Given the description of an element on the screen output the (x, y) to click on. 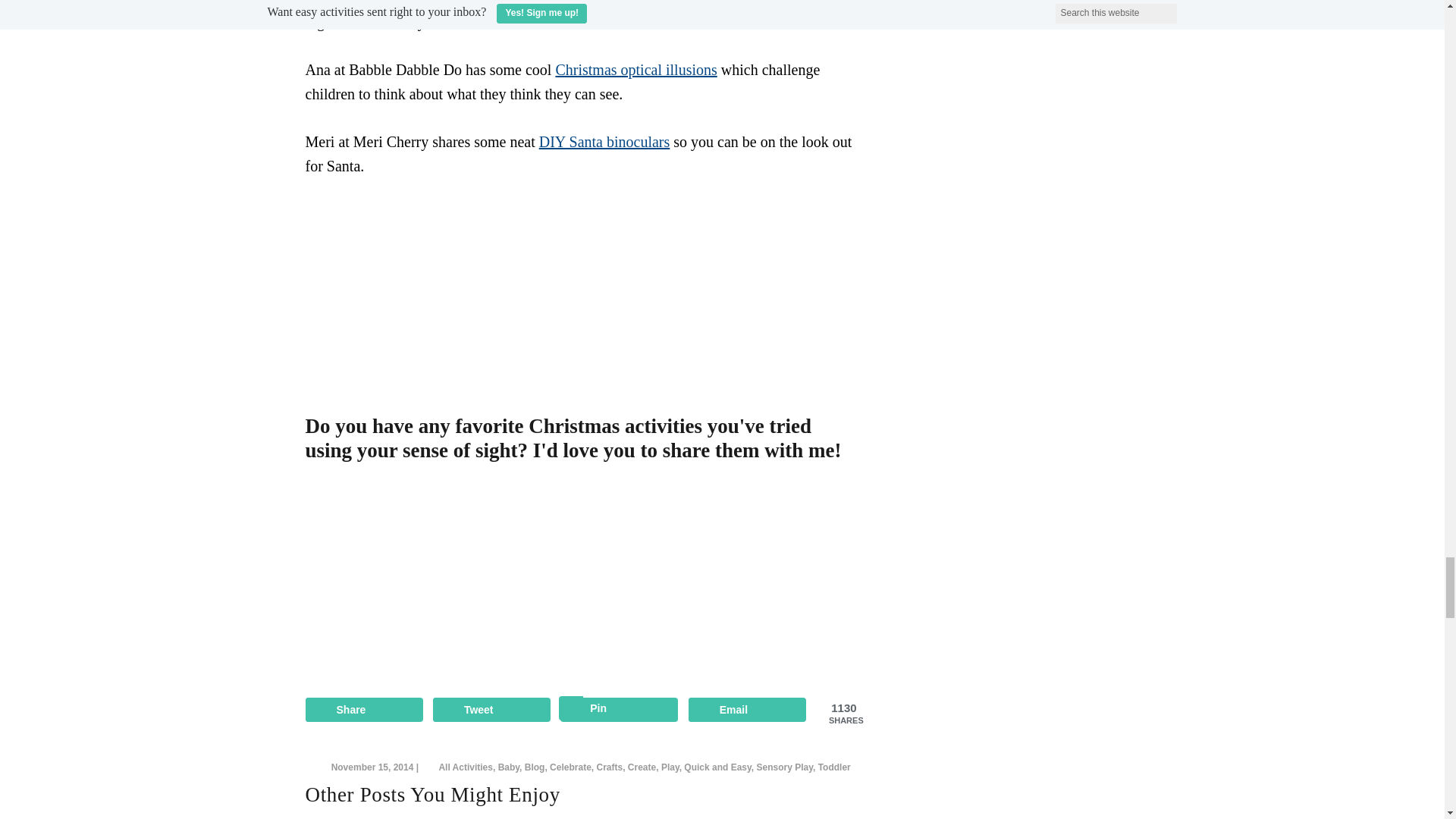
Save to Pinterest (619, 709)
Share on X (491, 709)
Send over email (747, 709)
Share on Facebook (363, 709)
